Given the description of an element on the screen output the (x, y) to click on. 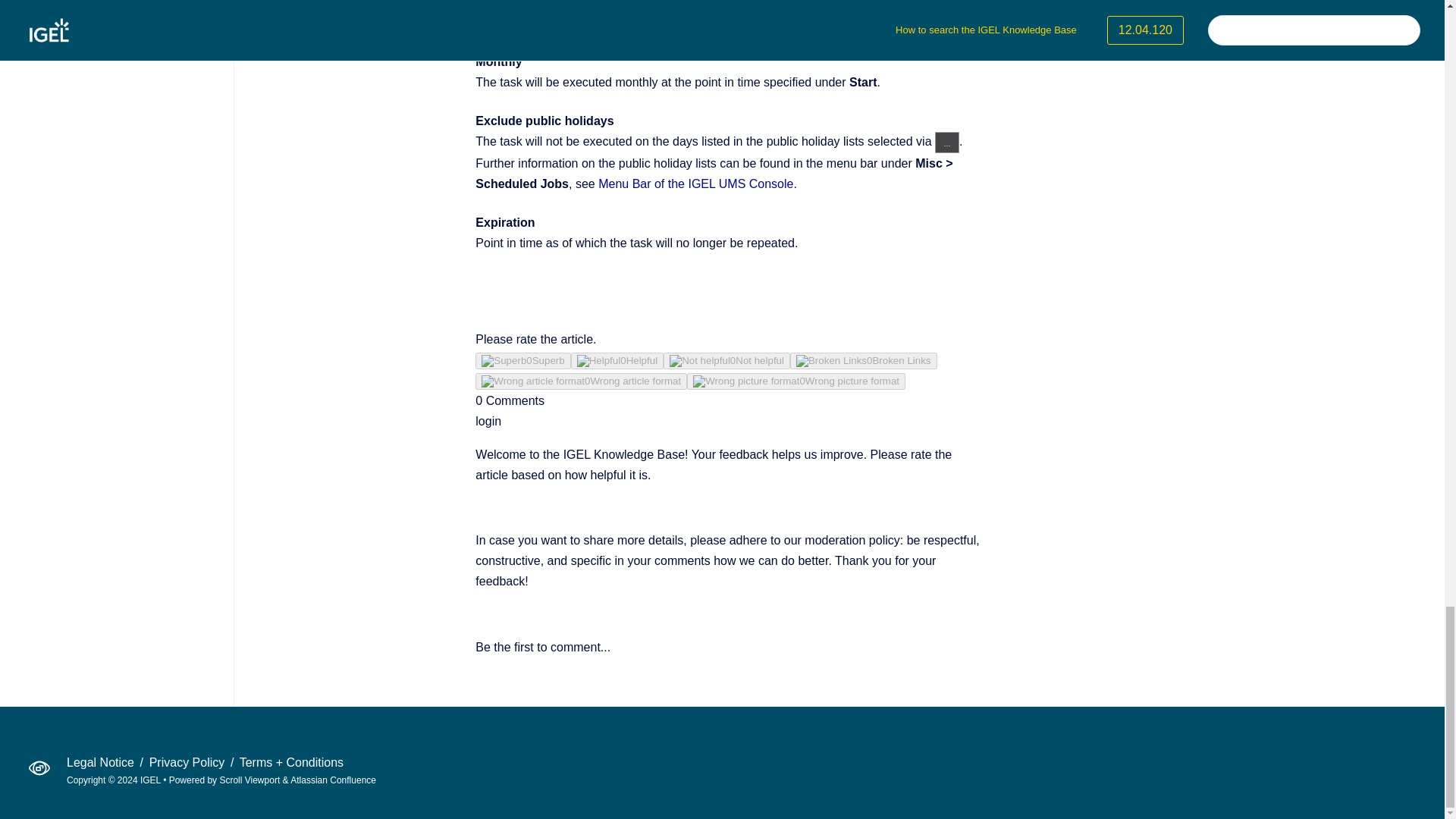
Atlassian Confluence (332, 779)
Scroll Viewport (250, 779)
Privacy Policy (188, 762)
Legal Notice (101, 762)
Menu Bar of the IGEL UMS Console (695, 183)
